Given the description of an element on the screen output the (x, y) to click on. 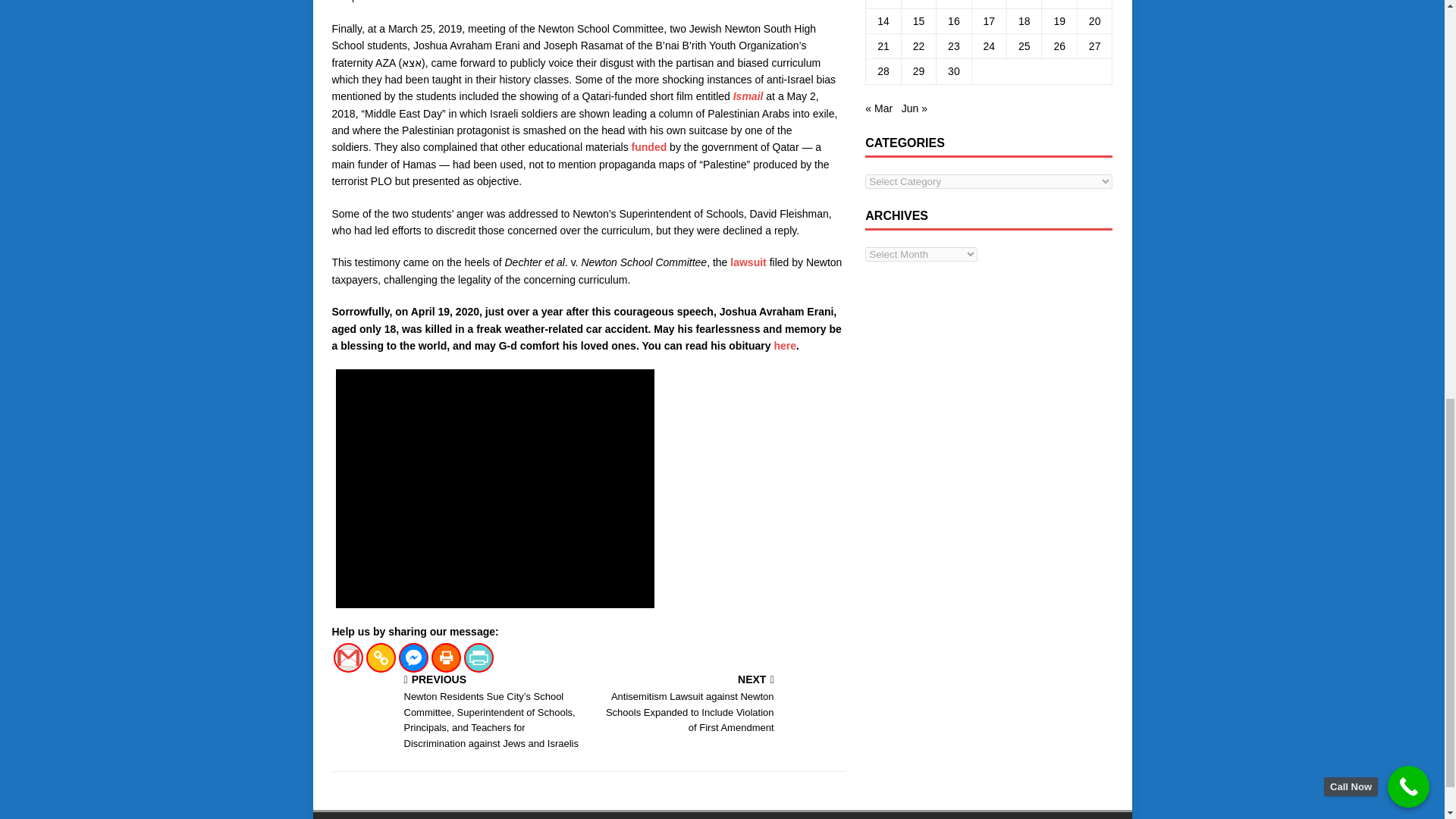
Print (445, 657)
Copy Link (379, 657)
Google Gmail (347, 657)
PrintFriendly (478, 657)
